Given the description of an element on the screen output the (x, y) to click on. 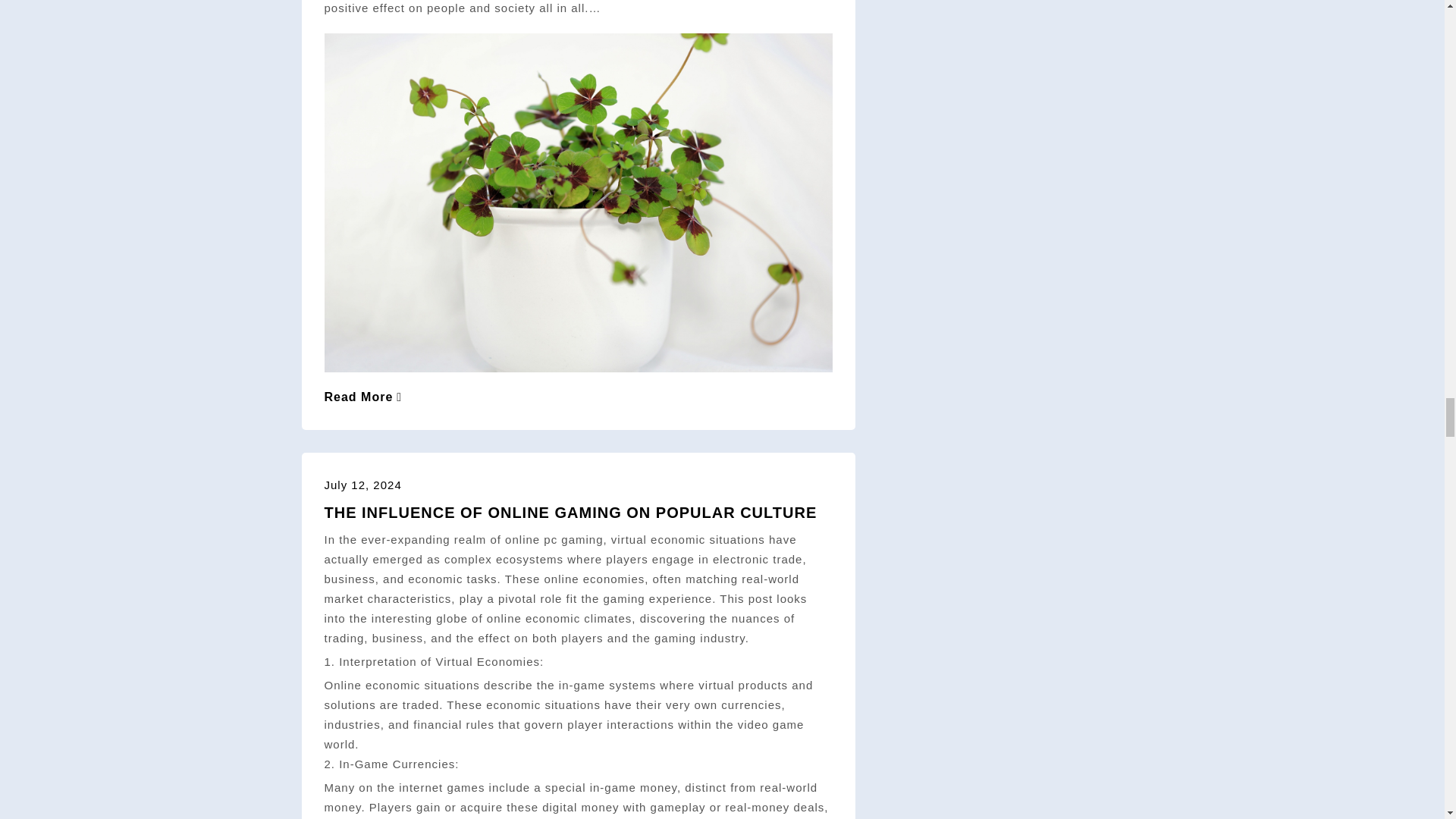
July 12, 2024 (362, 484)
Read More (363, 396)
THE INFLUENCE OF ONLINE GAMING ON POPULAR CULTURE (570, 512)
